Given the description of an element on the screen output the (x, y) to click on. 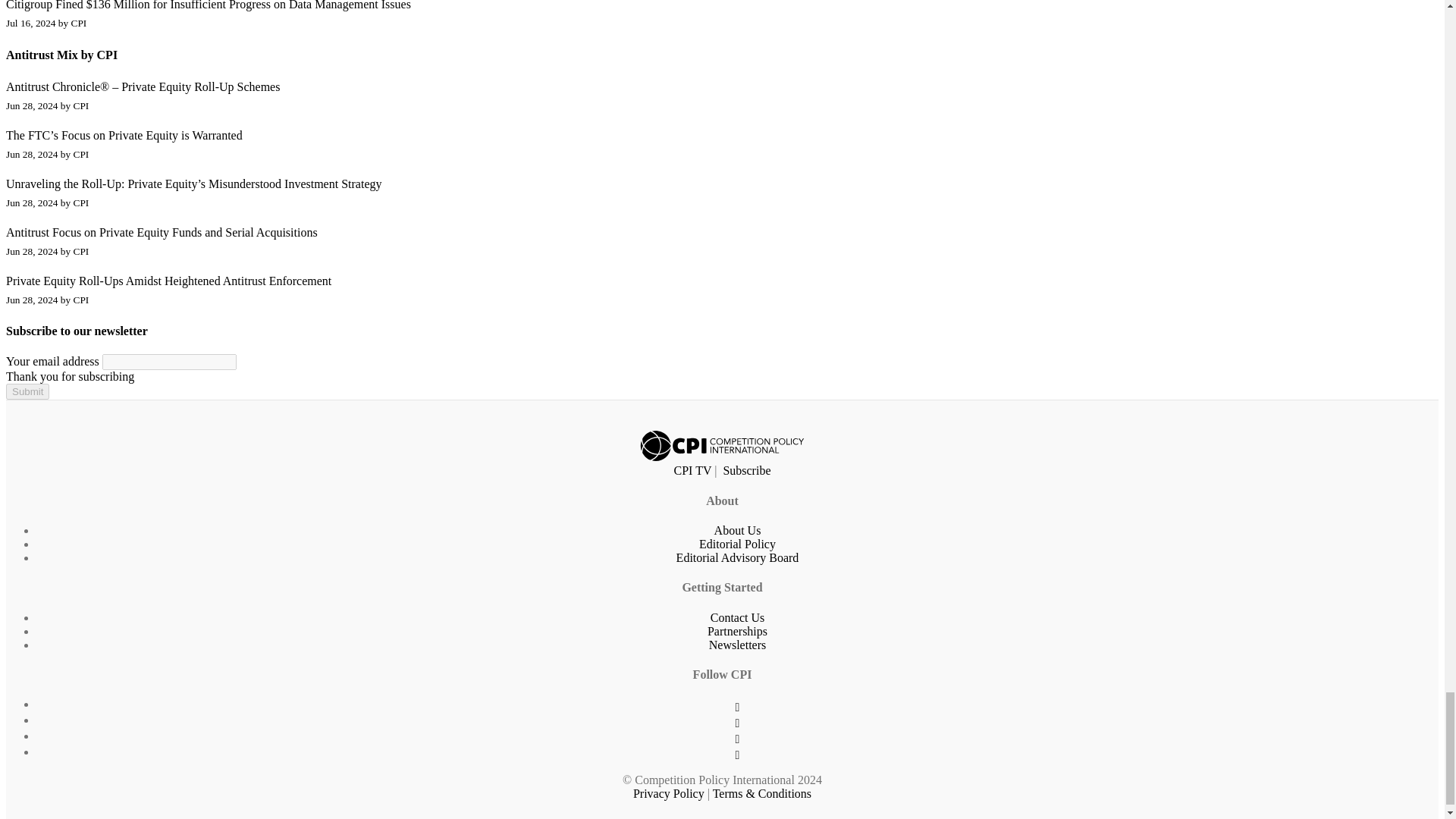
Posts by CPI (79, 22)
Posts by CPI (80, 105)
